Given the description of an element on the screen output the (x, y) to click on. 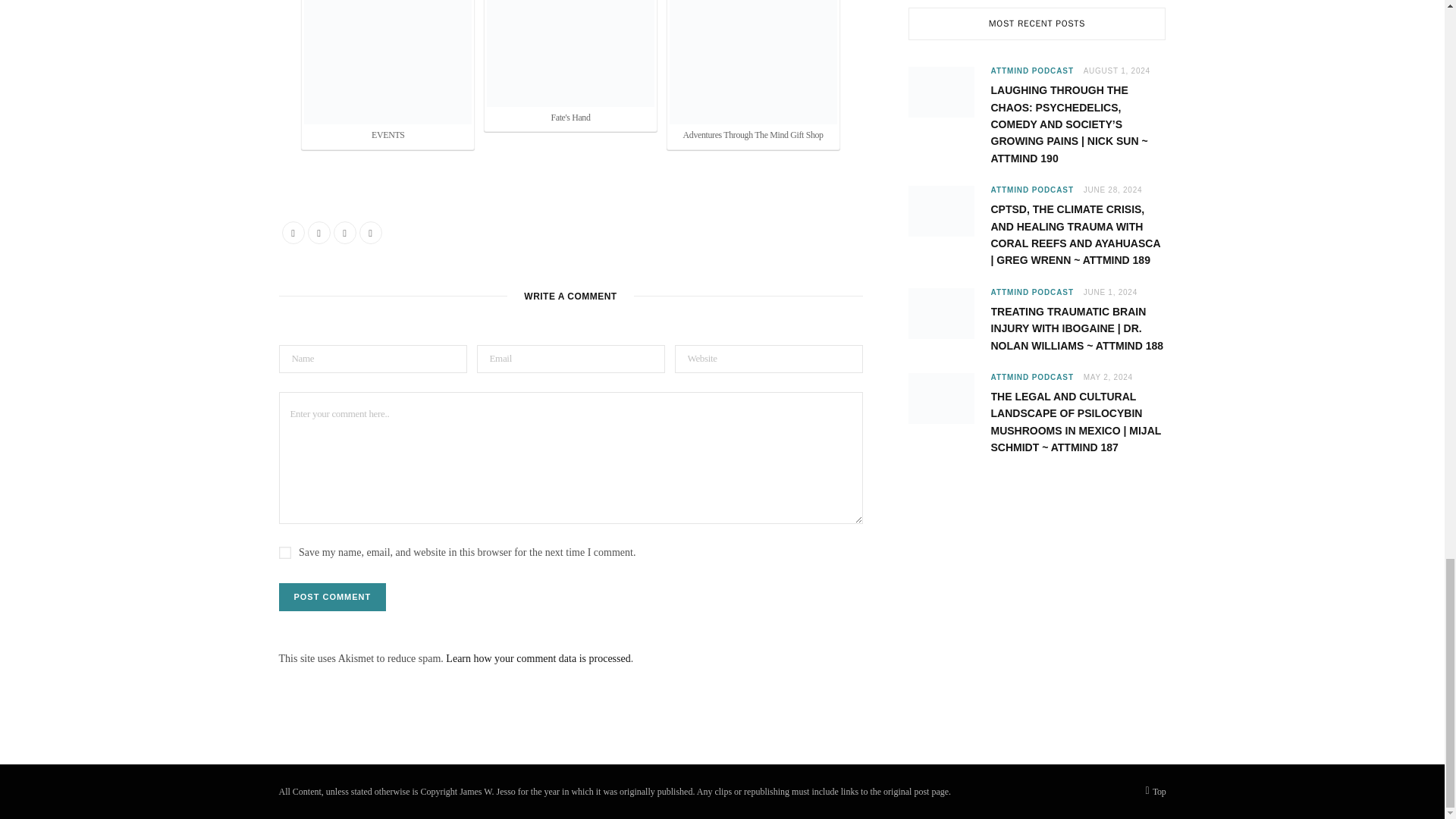
EVENTS (387, 72)
EVENTS (387, 62)
Fate's Hand (569, 63)
Fate's Hand (569, 53)
Post Comment (333, 596)
Adventures Through The Mind Gift Shop (753, 62)
yes (285, 552)
